Given the description of an element on the screen output the (x, y) to click on. 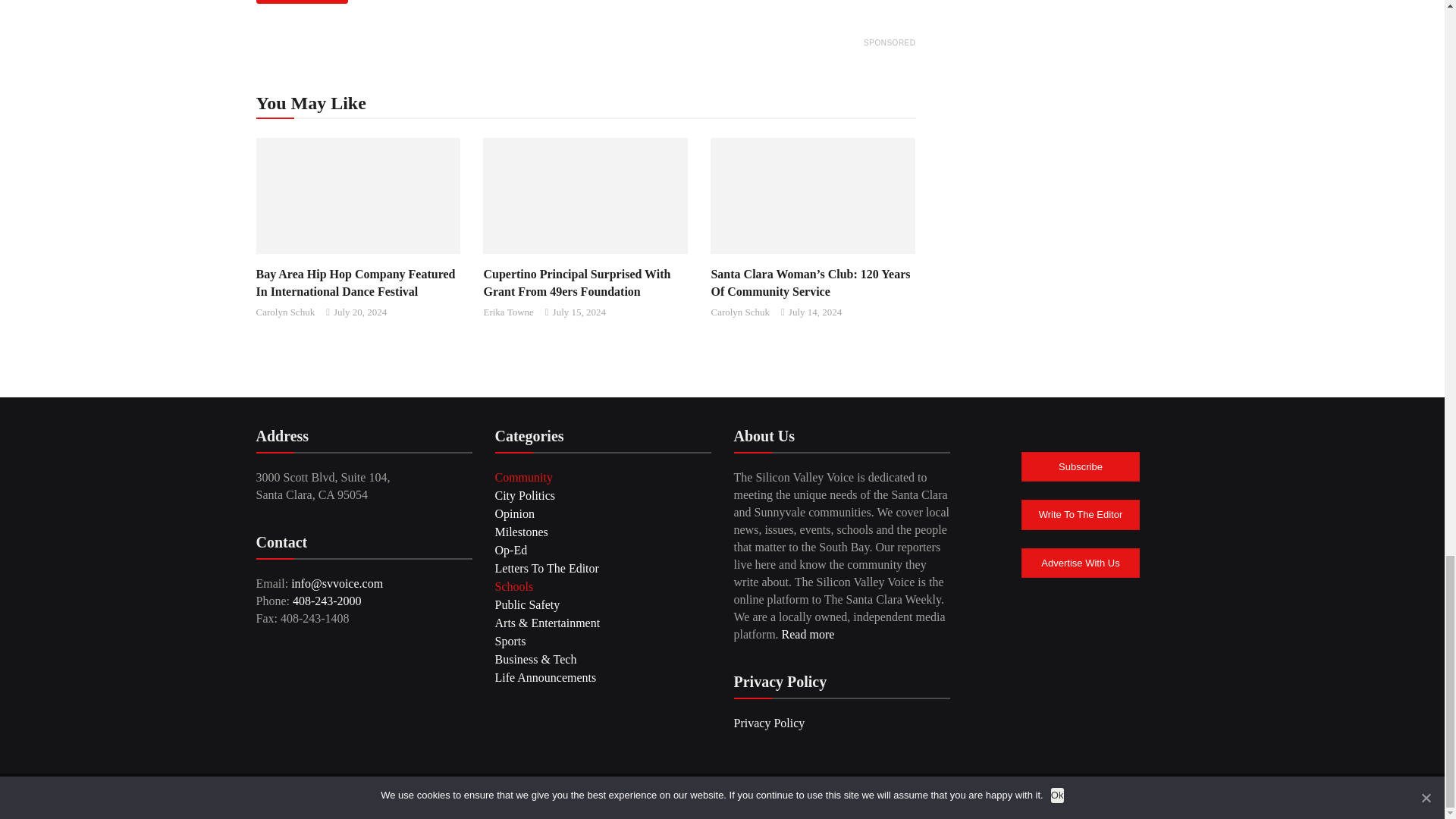
Post Comment (301, 2)
